Given the description of an element on the screen output the (x, y) to click on. 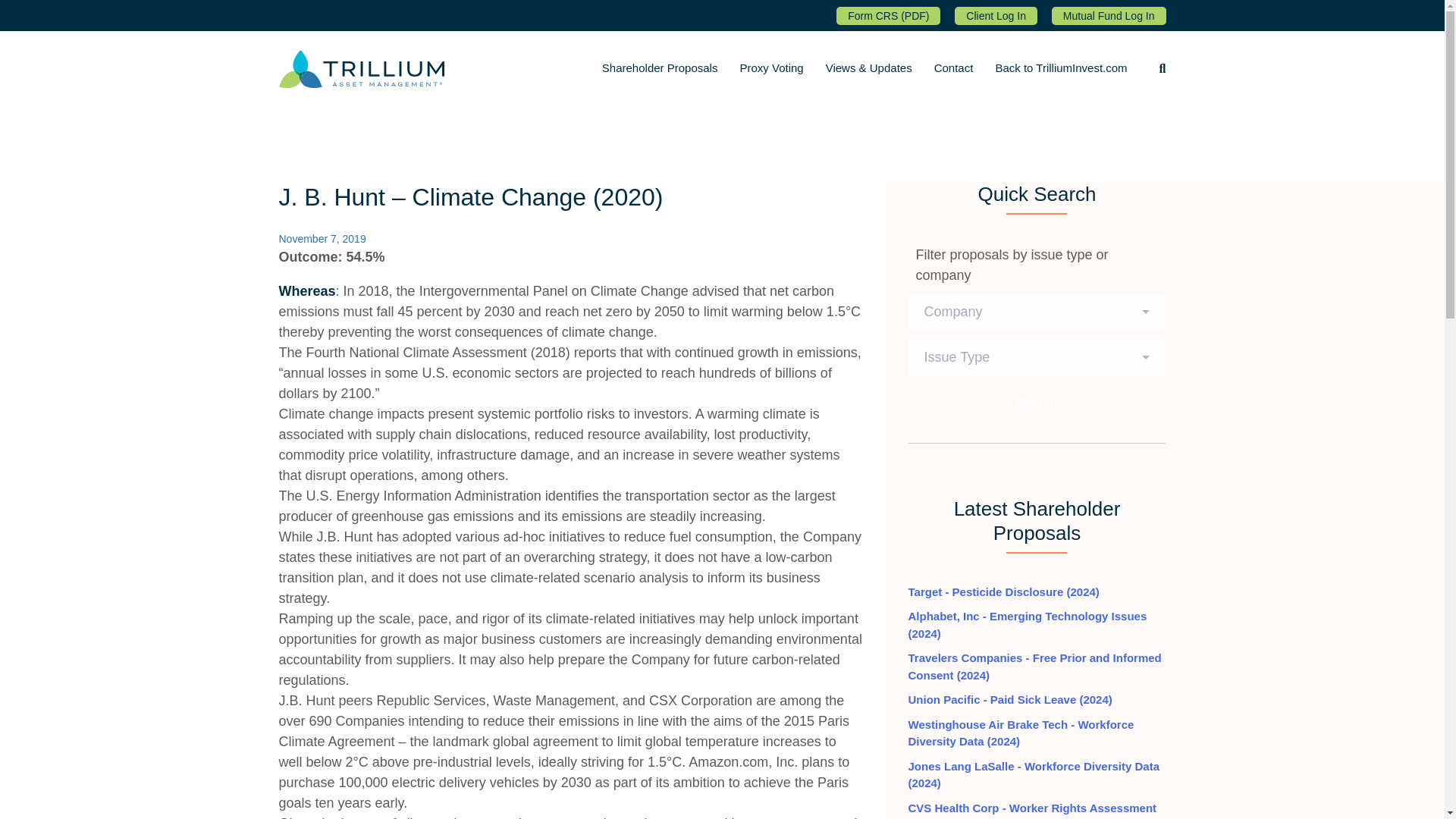
Mutual Fund Log In (1108, 15)
Search (1037, 404)
Client Log In (995, 15)
Proxy Voting (771, 68)
Search (1037, 403)
Back to TrilliumInvest.com (1060, 68)
Shareholder Proposals (659, 68)
